Given the description of an element on the screen output the (x, y) to click on. 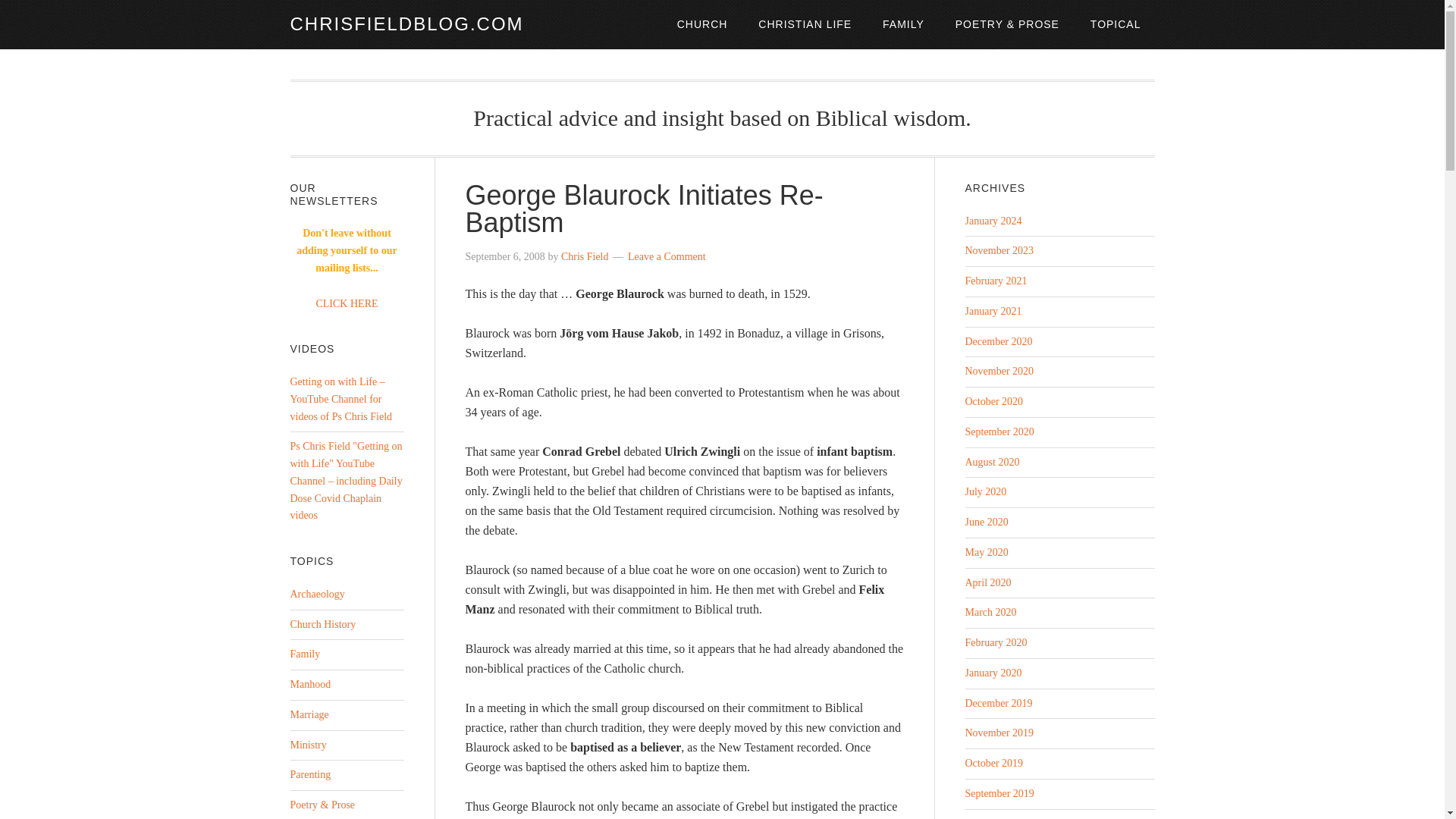
Discussion of archaeological findings and topics. (316, 593)
CHRISTIAN LIFE (804, 24)
FAMILY (903, 24)
CHURCH (702, 24)
CHRISFIELDBLOG.COM (405, 23)
George Blaurock Initiates Re-Baptism (644, 208)
Chris Field (584, 256)
Leave a Comment (666, 256)
